Given the description of an element on the screen output the (x, y) to click on. 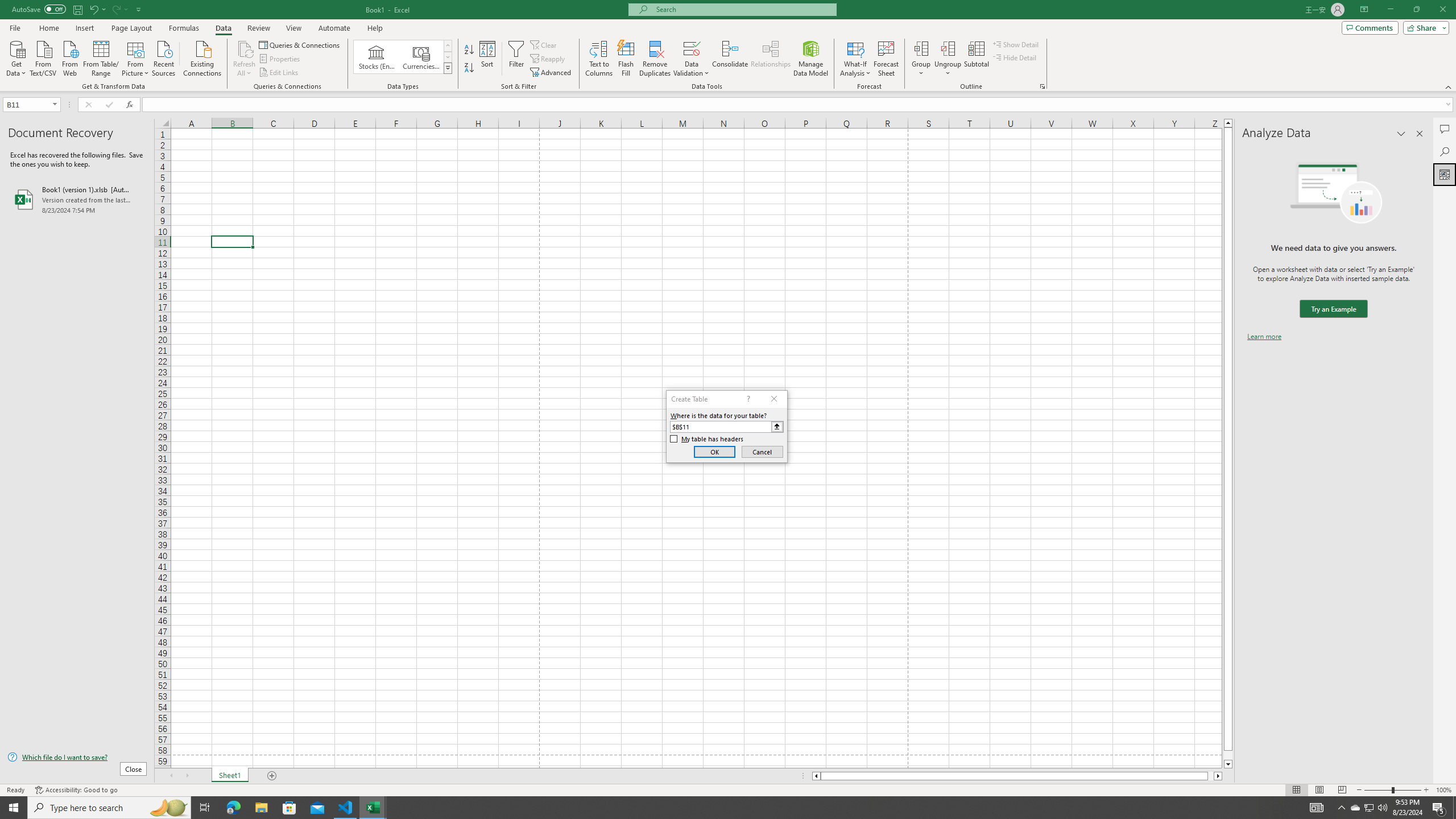
Restore Down (1416, 9)
Queries & Connections (300, 44)
Open (54, 104)
Data Validation... (691, 58)
Analyze Data (1444, 173)
Formula Bar (799, 104)
Stocks (English) (375, 56)
Relationships (770, 58)
AutoSave (38, 9)
Class: NetUIScrollBar (1016, 775)
Manage Data Model (810, 58)
